Given the description of an element on the screen output the (x, y) to click on. 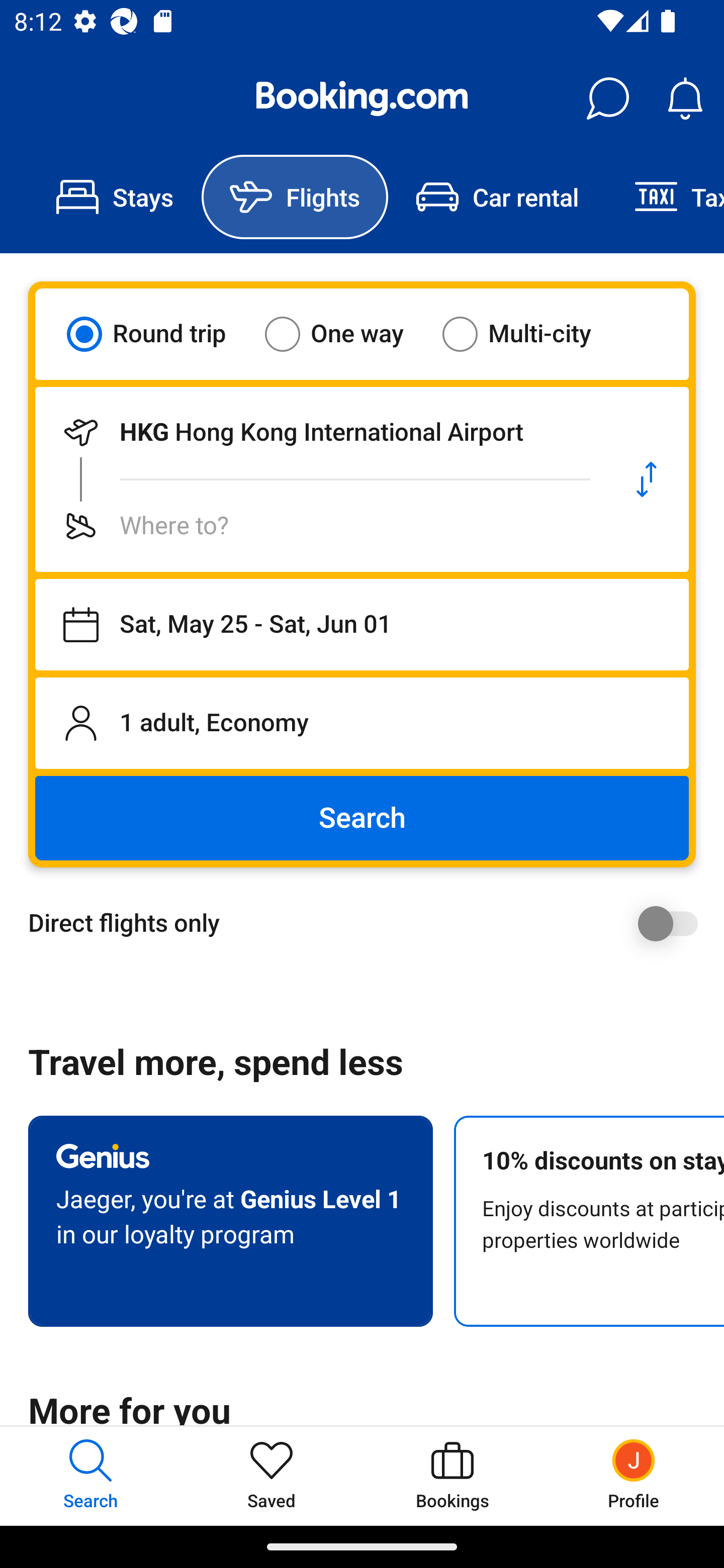
Messages (607, 98)
Notifications (685, 98)
Stays (114, 197)
Flights (294, 197)
Car rental (497, 197)
Taxi (665, 197)
One way (346, 333)
Multi-city (528, 333)
Departing from HKG Hong Kong International Airport (319, 432)
Swap departure location and destination (646, 479)
Flying to  (319, 525)
Departing on Sat, May 25, returning on Sat, Jun 01 (361, 624)
1 adult, Economy (361, 722)
Search (361, 818)
Direct flights only (369, 923)
Saved (271, 1475)
Bookings (452, 1475)
Profile (633, 1475)
